Given the description of an element on the screen output the (x, y) to click on. 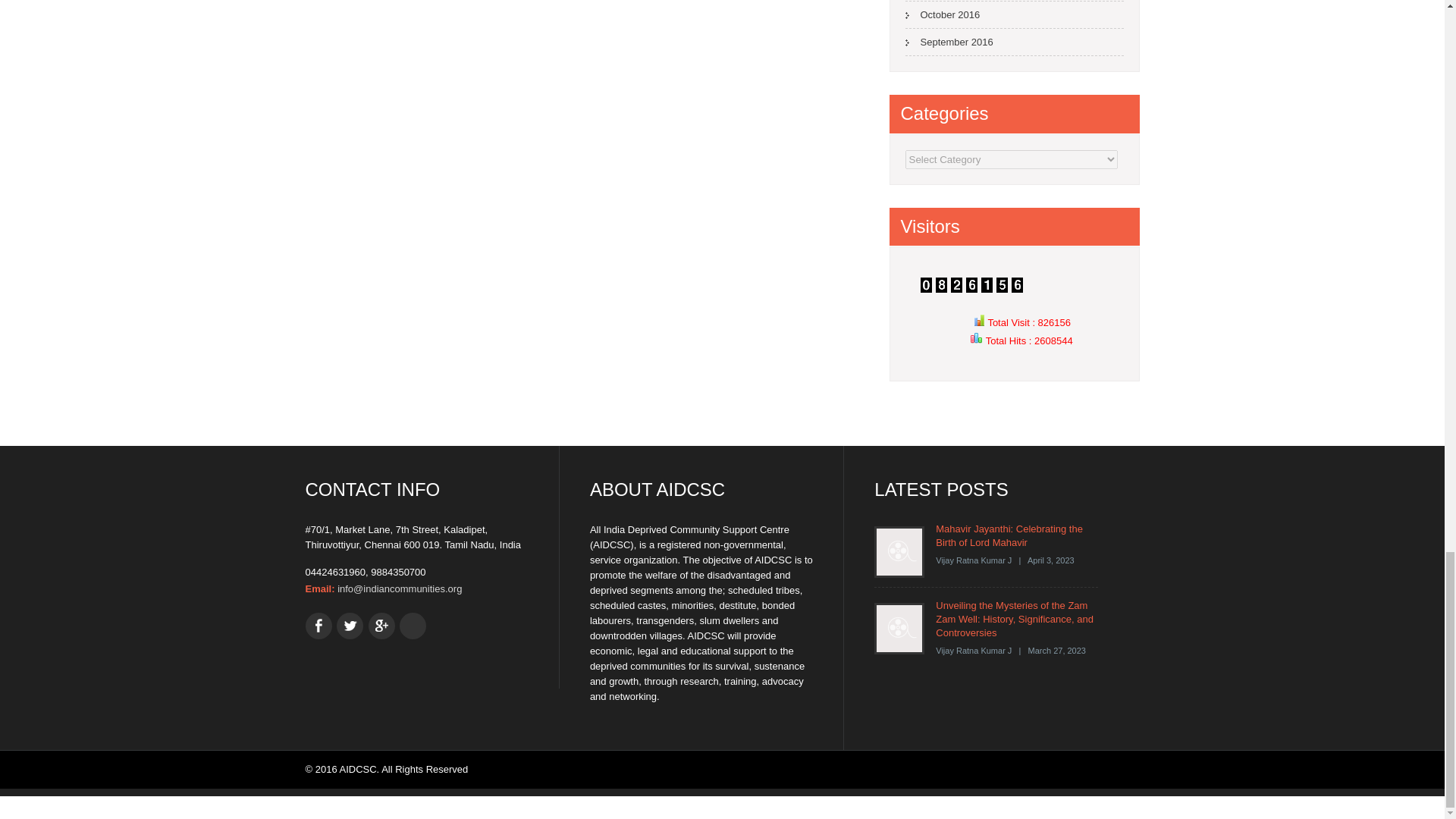
twitter (349, 625)
google-plus (381, 625)
linkedin (412, 625)
facebook (317, 625)
